Given the description of an element on the screen output the (x, y) to click on. 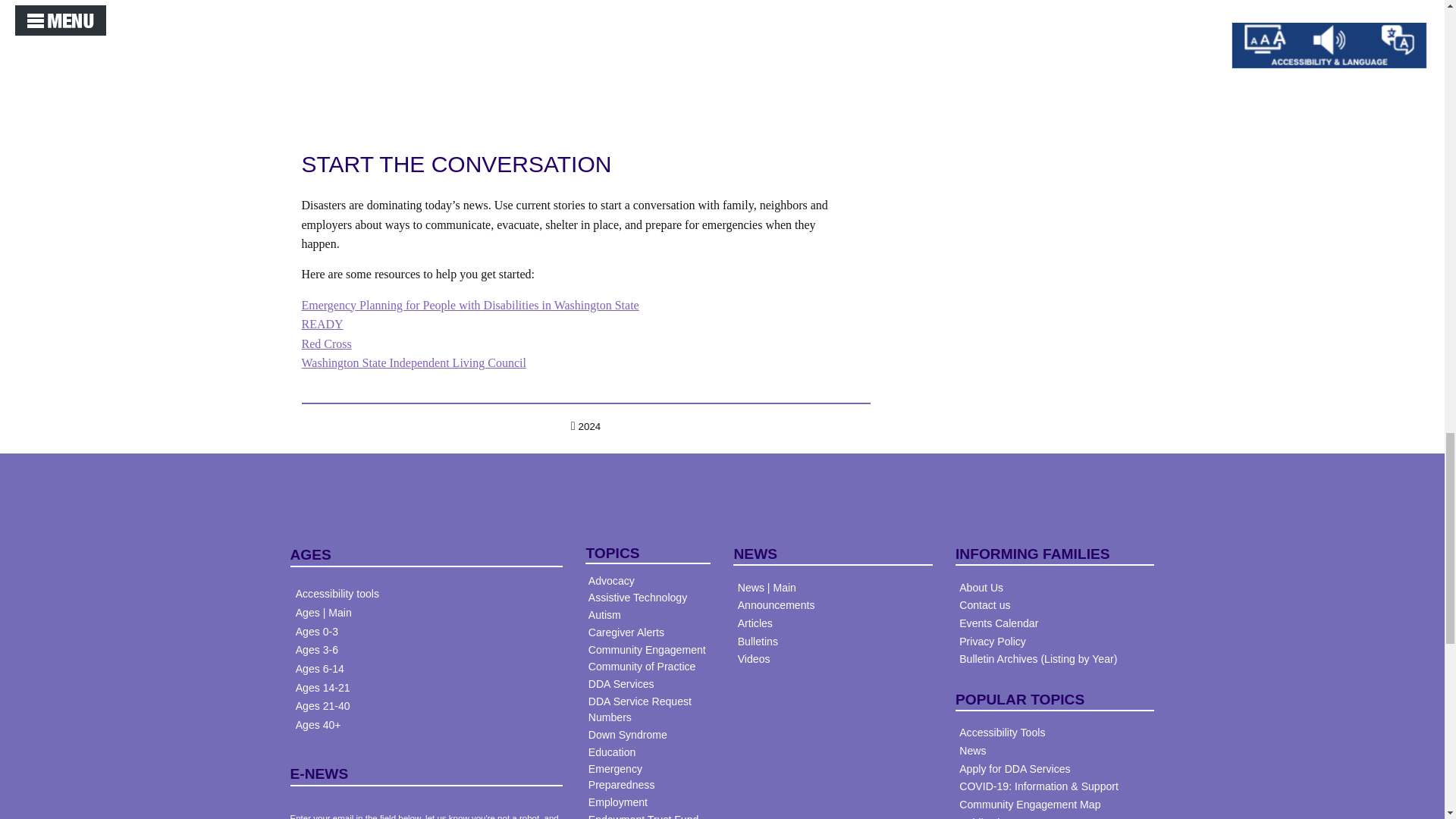
Washington State Independent Living Council (413, 362)
Ages 0-3 (316, 631)
Accessibility tools (336, 593)
Ages 3-6 (316, 649)
READY (322, 323)
Ages 6-14 (319, 668)
Red Cross (326, 343)
